Given the description of an element on the screen output the (x, y) to click on. 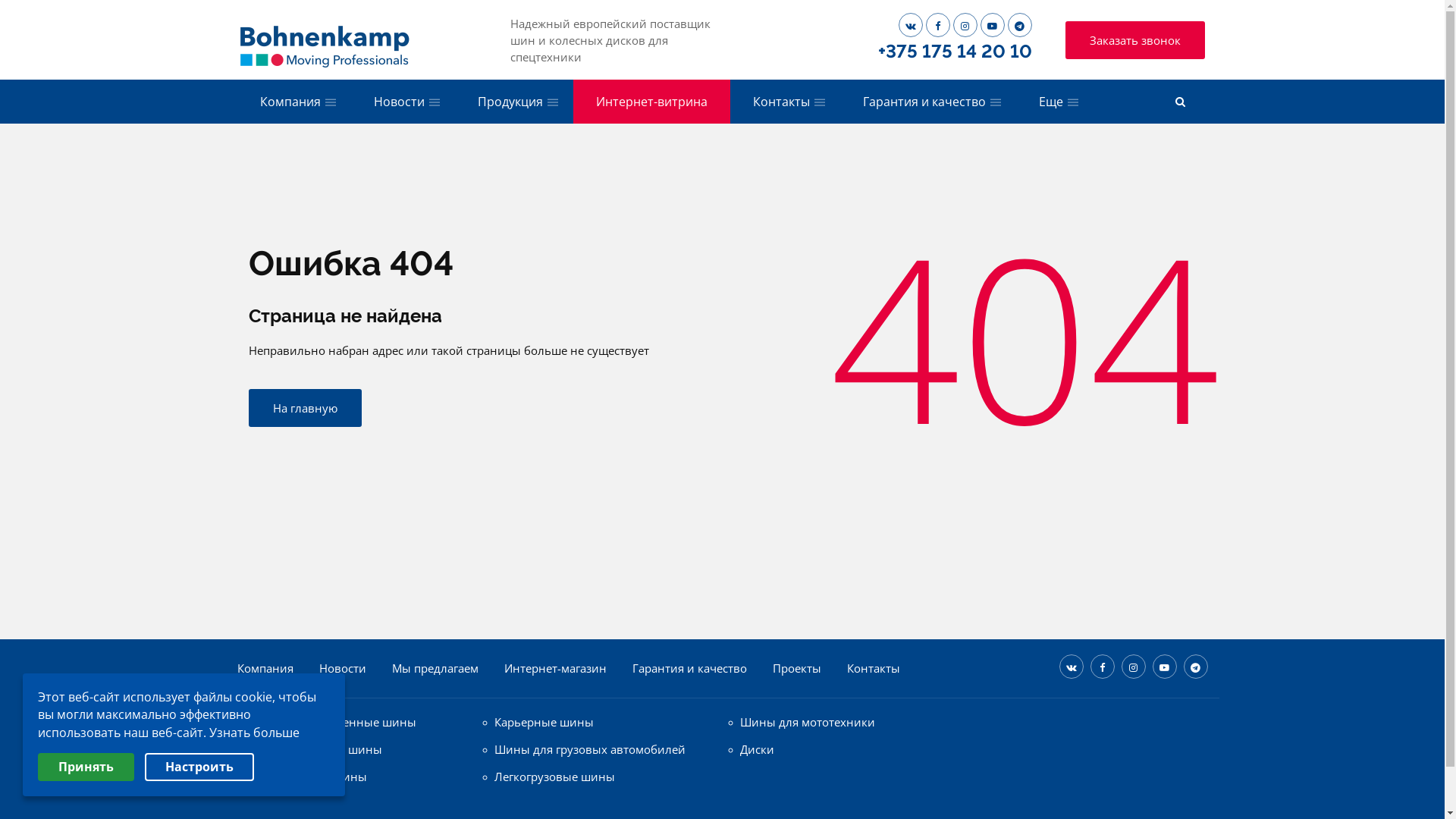
+375 175 14 20 10 Element type: text (955, 51)
Instagram Element type: hover (964, 24)
Facebook Element type: hover (1102, 666)
Youtube Element type: hover (1164, 666)
Youtube Element type: hover (991, 24)
Facebook Element type: hover (937, 24)
Vkontakte Element type: hover (909, 24)
Bohnenkamp Russia Element type: hover (323, 39)
Telegram Element type: hover (1019, 24)
Telegram Element type: hover (1195, 666)
Instagram Element type: hover (1132, 666)
Vkontakte Element type: hover (1070, 666)
